Given the description of an element on the screen output the (x, y) to click on. 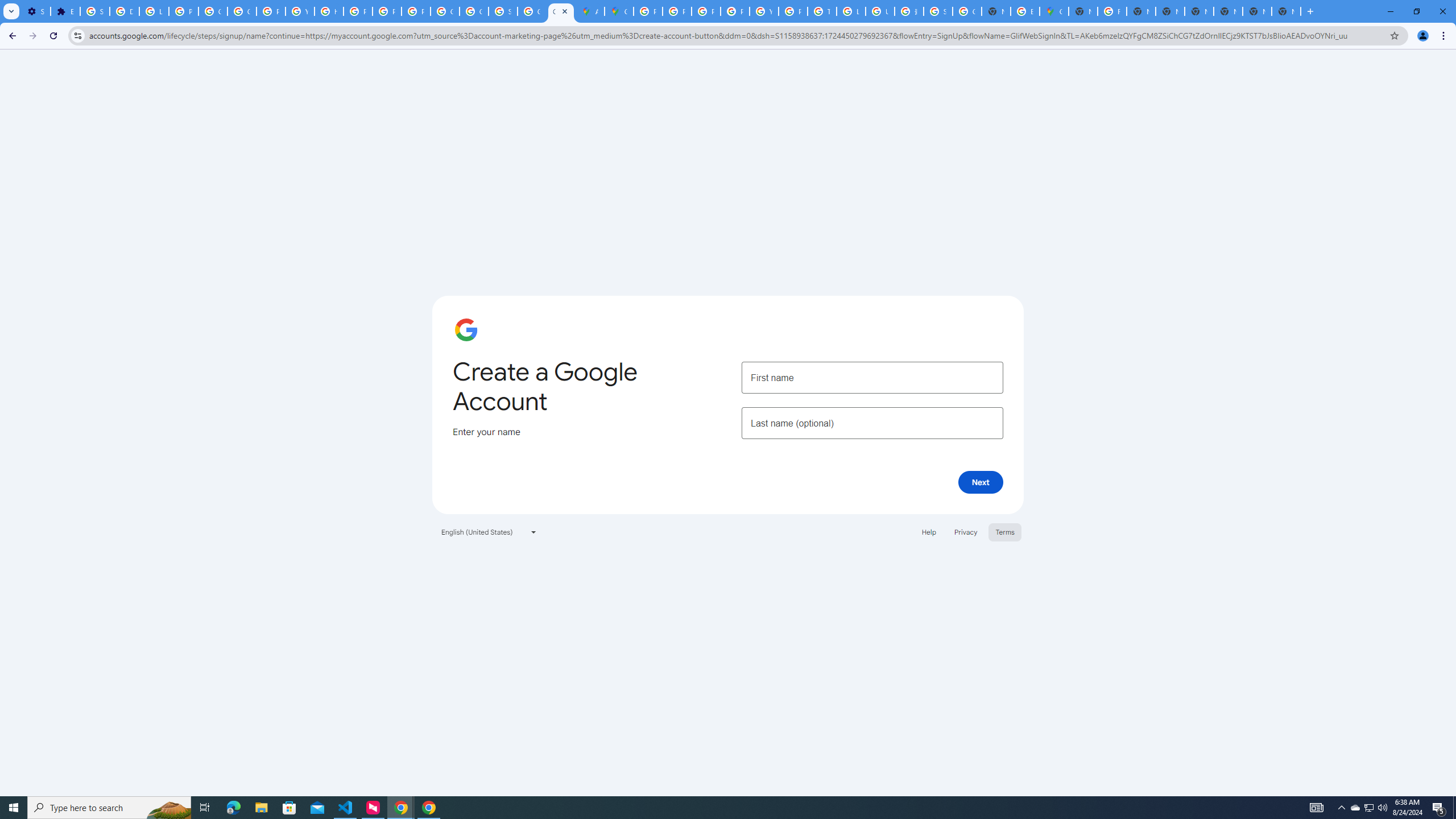
Privacy Help Center - Policies Help (357, 11)
New Tab (1256, 11)
First name (871, 376)
Policy Accountability and Transparency - Transparency Center (648, 11)
Terms (1005, 531)
View site information (77, 35)
Google Account Help (212, 11)
Minimize (1390, 11)
YouTube (763, 11)
New Tab (1082, 11)
